Given the description of an element on the screen output the (x, y) to click on. 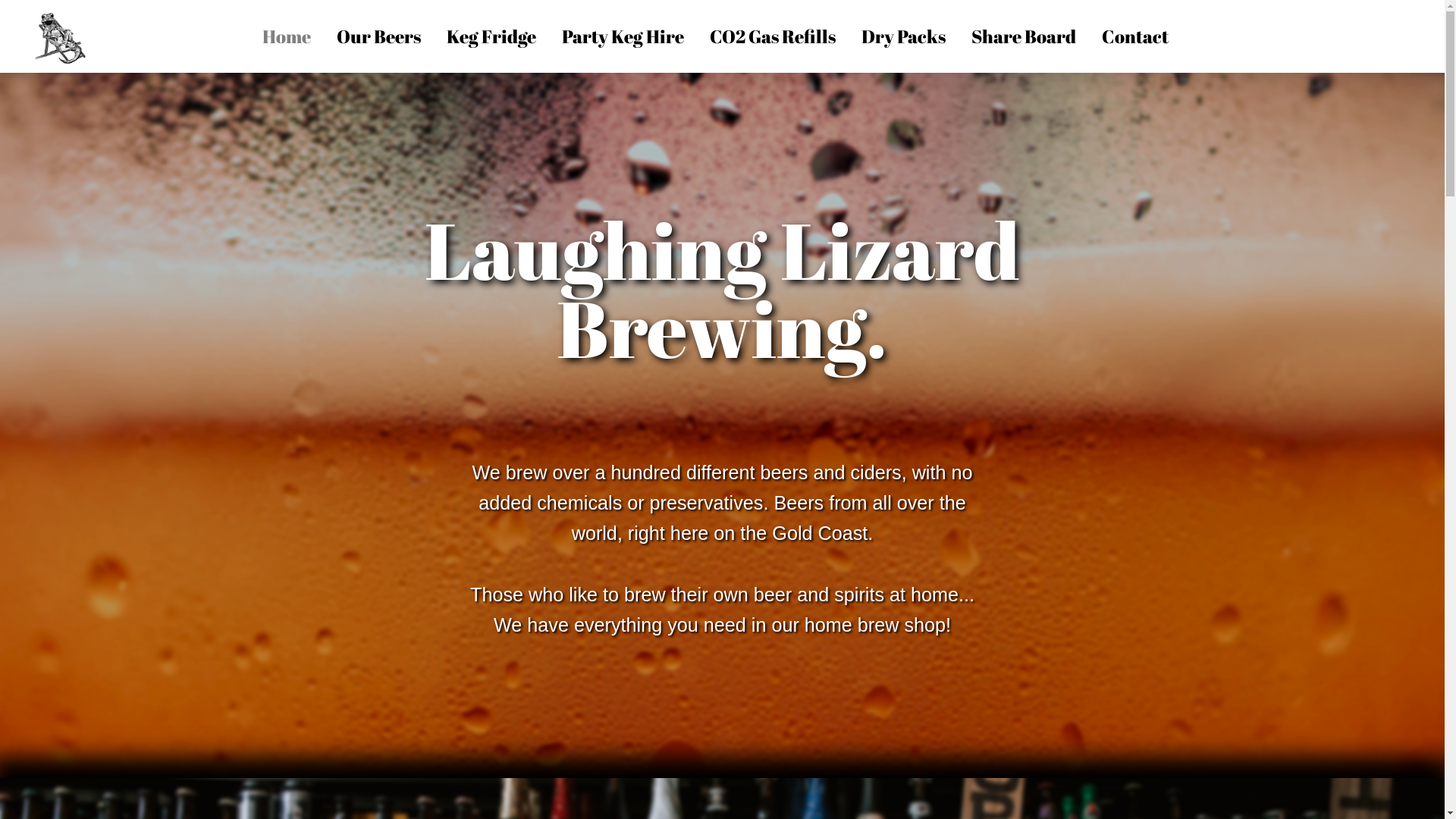
Party Keg Hire Element type: text (622, 36)
Dry Packs Element type: text (903, 36)
CO2 Gas Refills Element type: text (772, 36)
Share Board Element type: text (1023, 36)
Keg Fridge Element type: text (491, 36)
Our Beers Element type: text (378, 36)
Home Element type: text (286, 36)
Contact Element type: text (1134, 36)
